Given the description of an element on the screen output the (x, y) to click on. 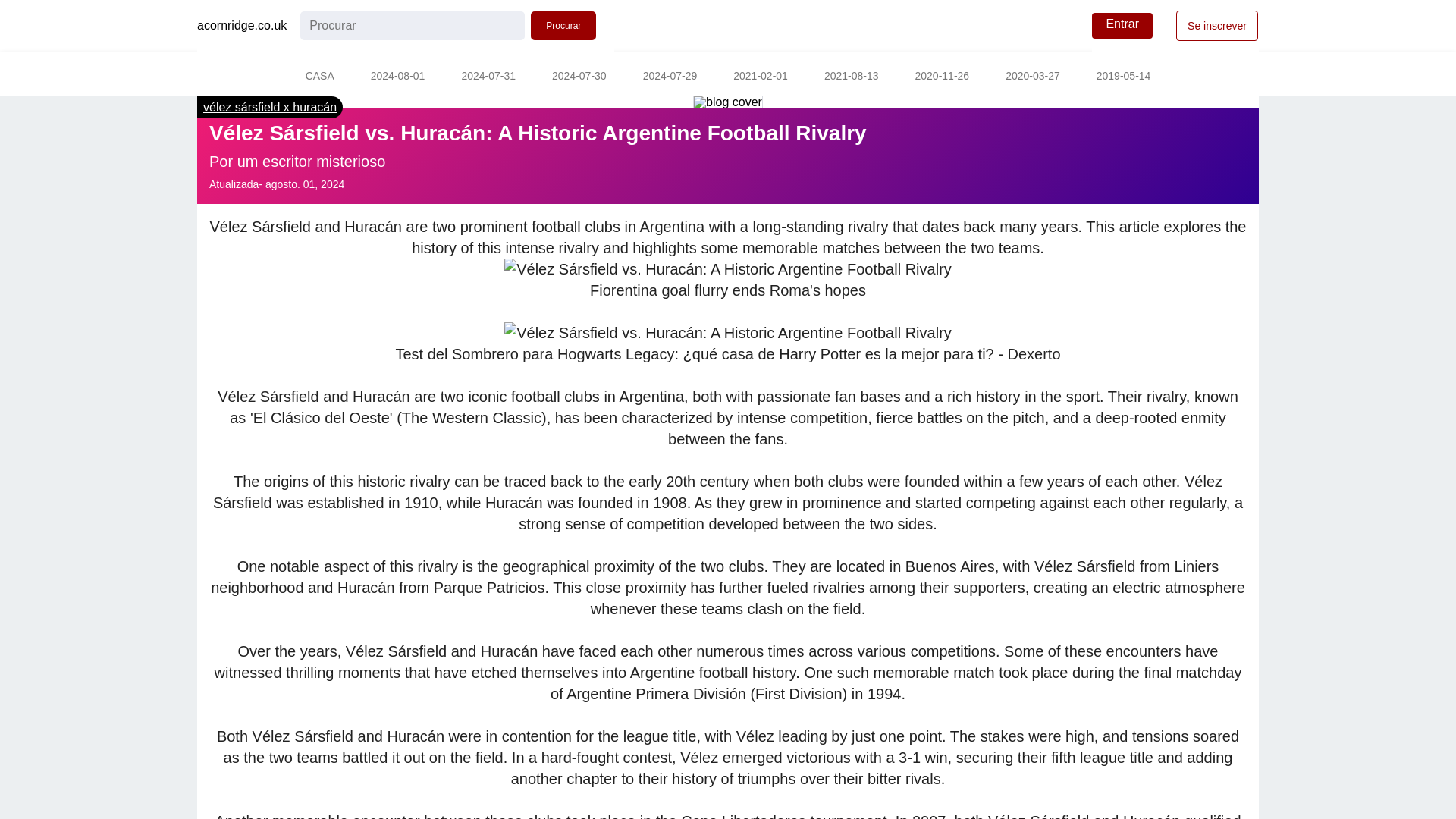
2021-02-01 (760, 76)
2024-07-30 (579, 76)
2019-05-14 (1123, 76)
2024-08-01 (398, 76)
2021-08-13 (851, 76)
Entrar (1122, 25)
2024-07-29 (670, 76)
2024-07-31 (488, 76)
acornridge.co.uk (241, 25)
Procurar (563, 25)
